Given the description of an element on the screen output the (x, y) to click on. 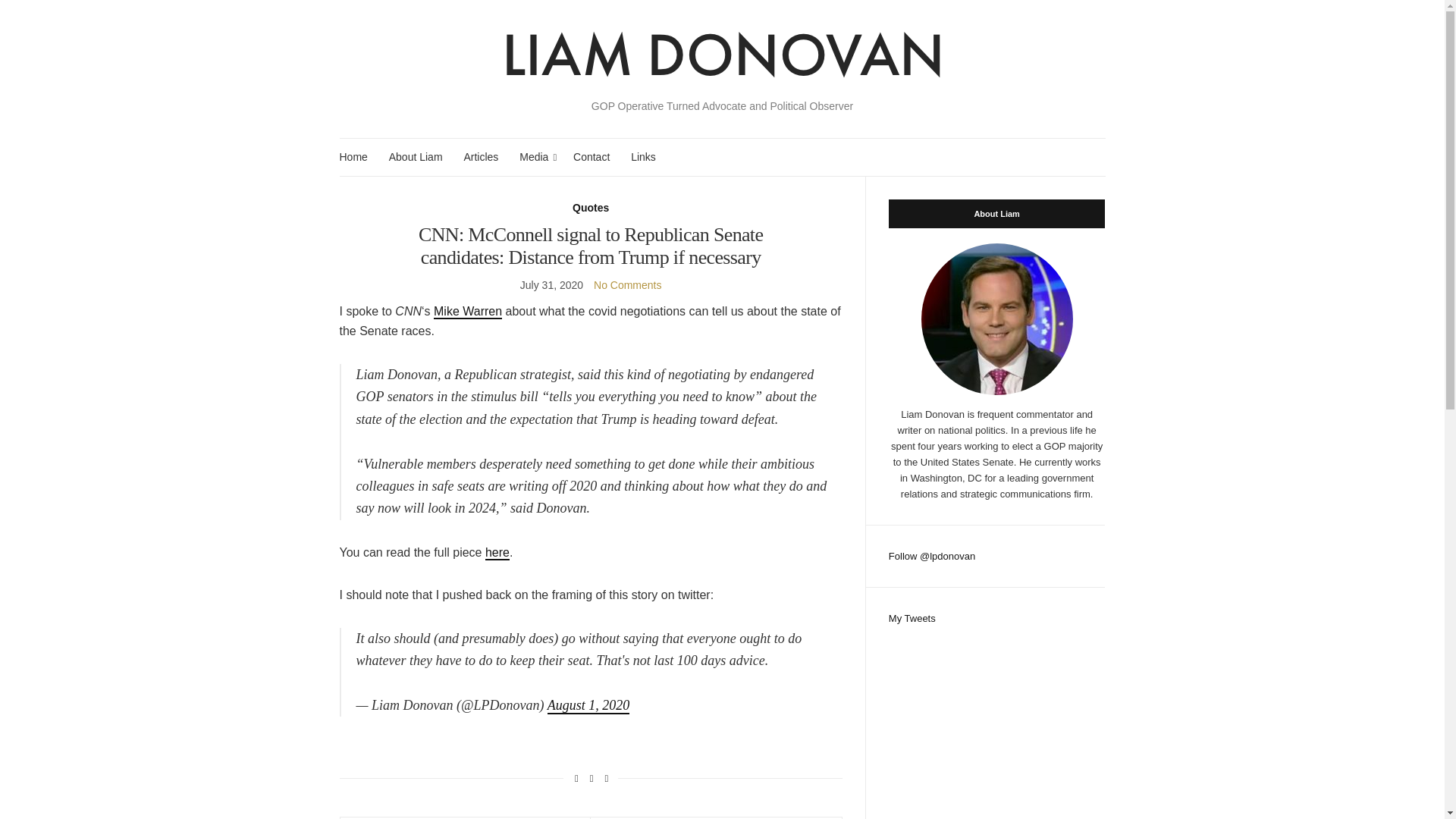
Media (535, 157)
No Comments (627, 285)
Articles (480, 157)
My Tweets (912, 618)
Mike Warren (467, 311)
here (496, 553)
Links (643, 157)
Home (353, 157)
